Given the description of an element on the screen output the (x, y) to click on. 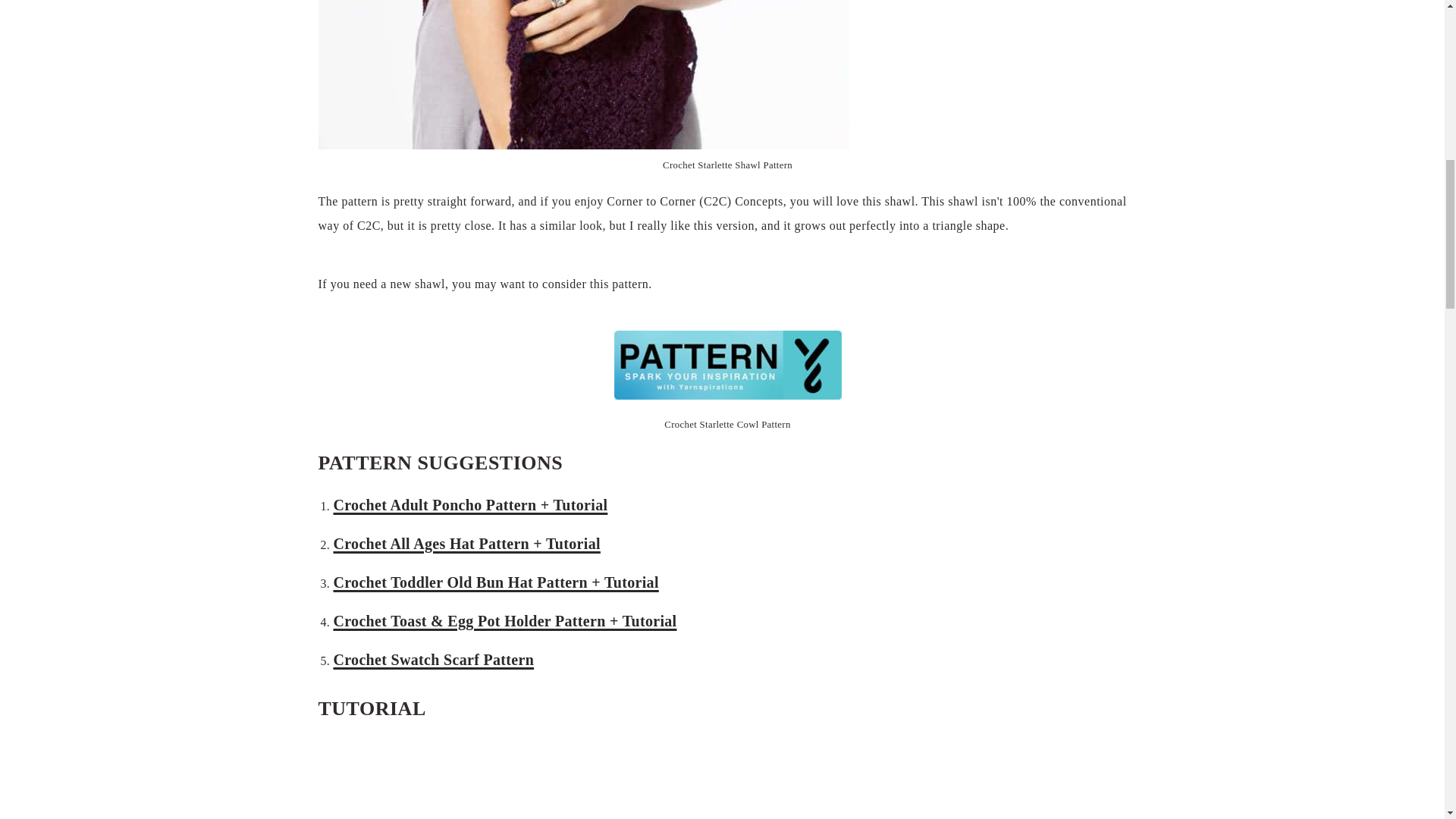
Crochet Swatch Scarf Pattern (433, 659)
Easy Crochet C2C Shawl - Corner to Corner (727, 778)
